Given the description of an element on the screen output the (x, y) to click on. 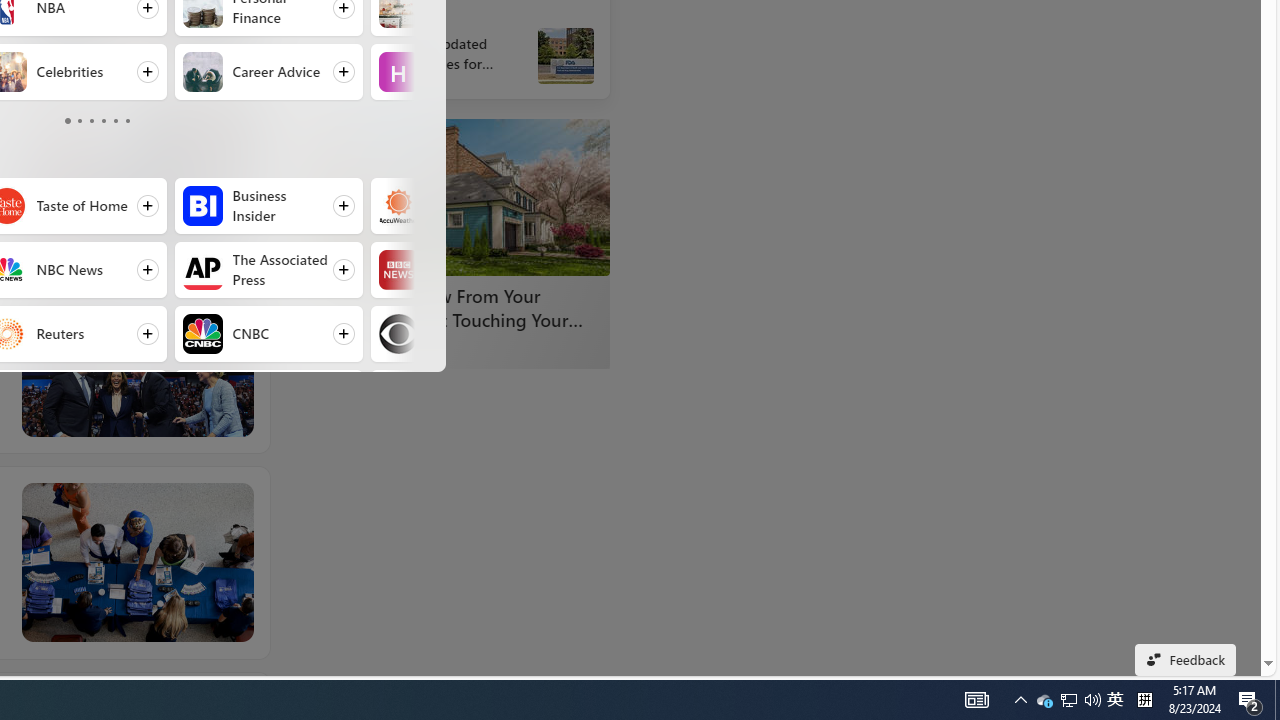
Follow Good Housekeeping (464, 398)
AccuWeather (397, 205)
Follow BBC (464, 269)
Follow CBS News (464, 334)
Class: hero-image (136, 179)
ABC News (349, 22)
The Associated Press (201, 269)
LendingTree (387, 348)
Follow CNBC (268, 334)
Follow The Associated Press (268, 269)
How To Borrow From Your Home Without Touching Your Mortgage (459, 196)
Career Advice (201, 71)
CNBC (201, 333)
